Given the description of an element on the screen output the (x, y) to click on. 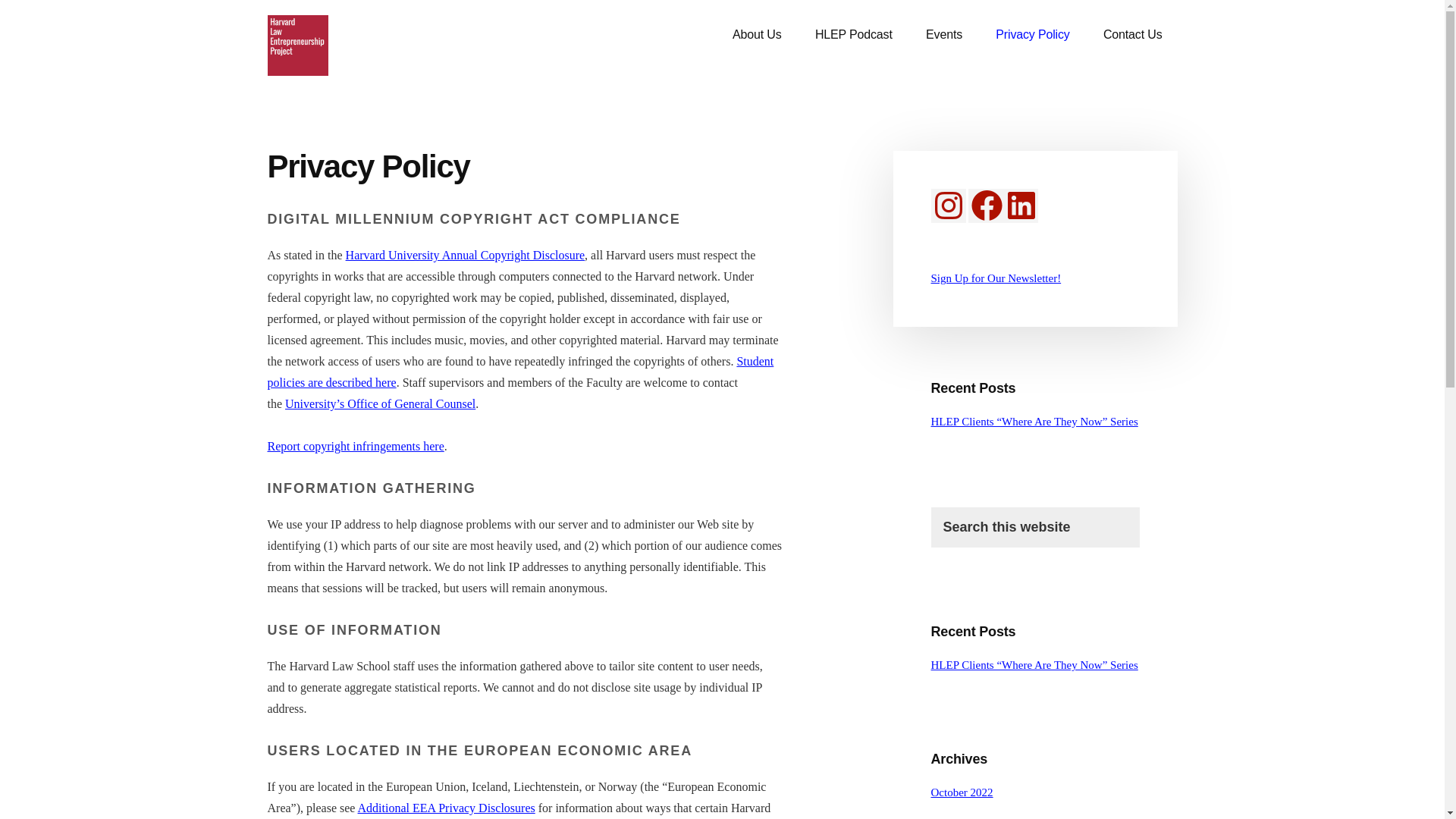
HLEP Podcast (853, 34)
Additional EEA Privacy Disclosures (446, 807)
Contact Us (1132, 34)
Sign Up for Our Newsletter! (996, 277)
Events (943, 34)
About Us (756, 34)
Report copyright infringements here (355, 445)
Harvard University Annual Copyright Disclosure (465, 254)
Privacy Policy (1031, 34)
Student policies are described here (519, 371)
